Given the description of an element on the screen output the (x, y) to click on. 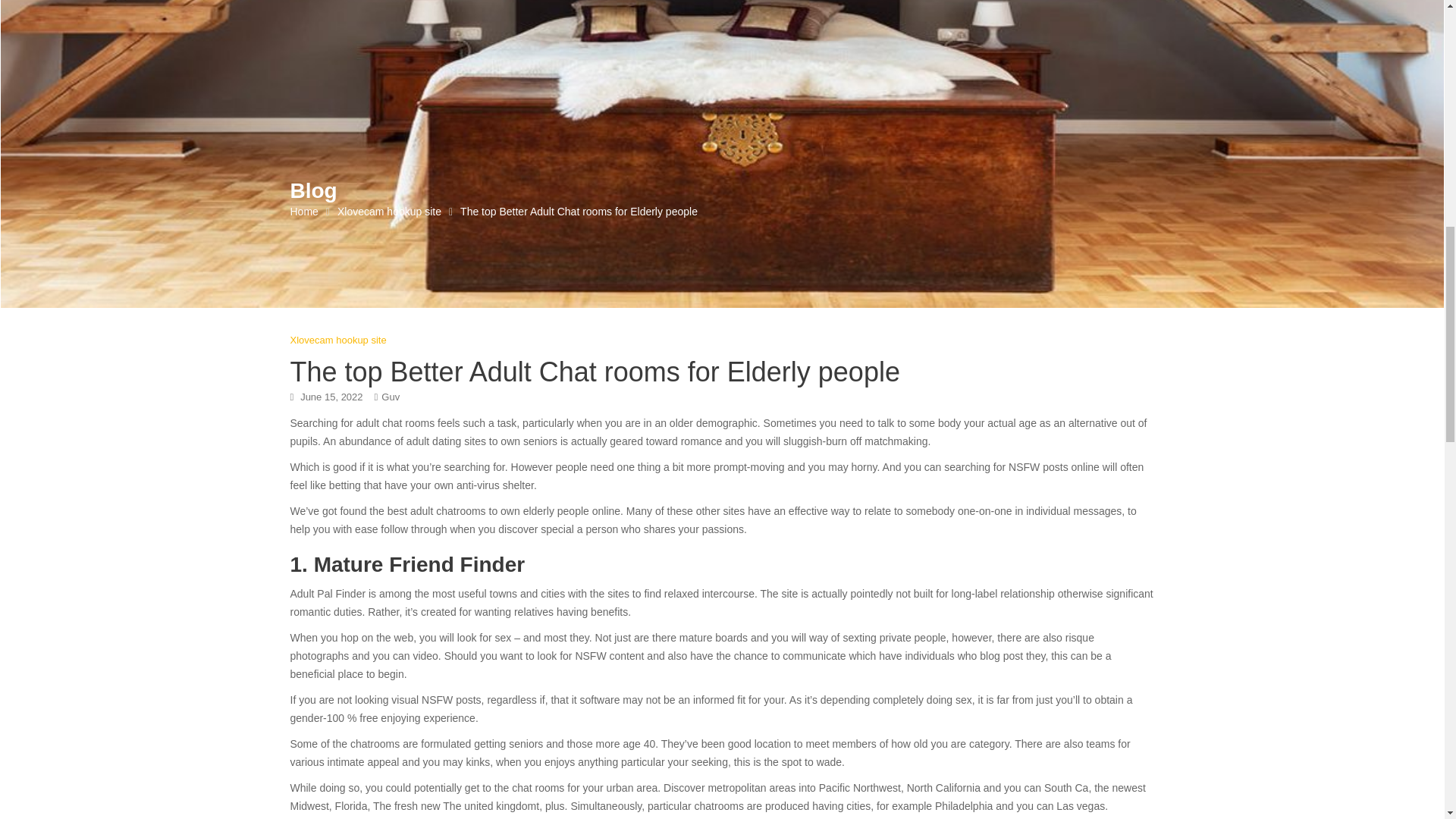
Xlovecam hookup site (389, 211)
Guv (389, 396)
Xlovecam hookup site (337, 339)
Home (303, 211)
June 15, 2022 (330, 396)
